Given the description of an element on the screen output the (x, y) to click on. 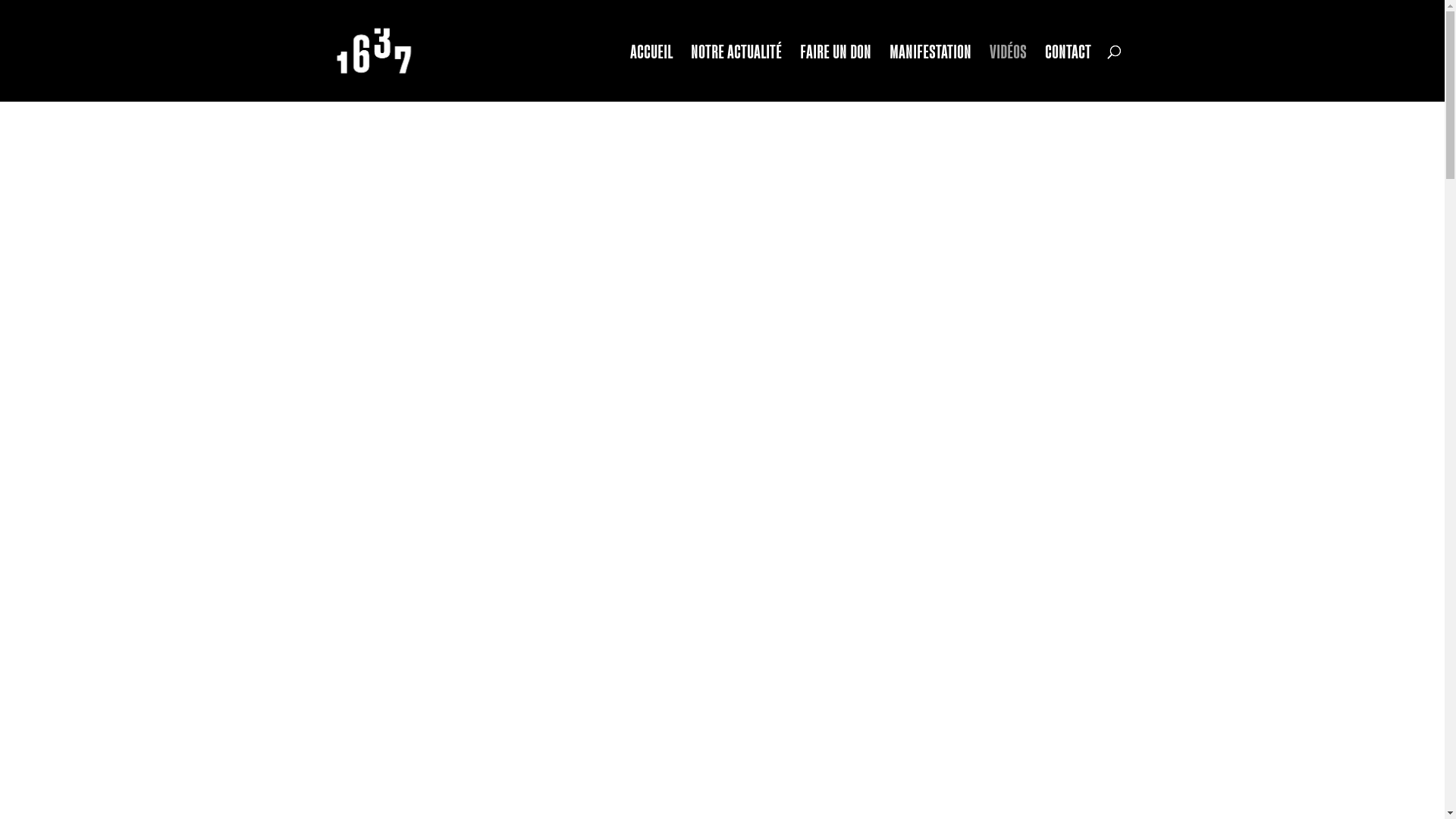
1637 - introduction Element type: hover (721, 426)
MANIFESTATION Element type: text (930, 73)
FAIRE UN DON Element type: text (835, 73)
CONTACT Element type: text (1067, 73)
ACCUEIL Element type: text (651, 73)
